Given the description of an element on the screen output the (x, y) to click on. 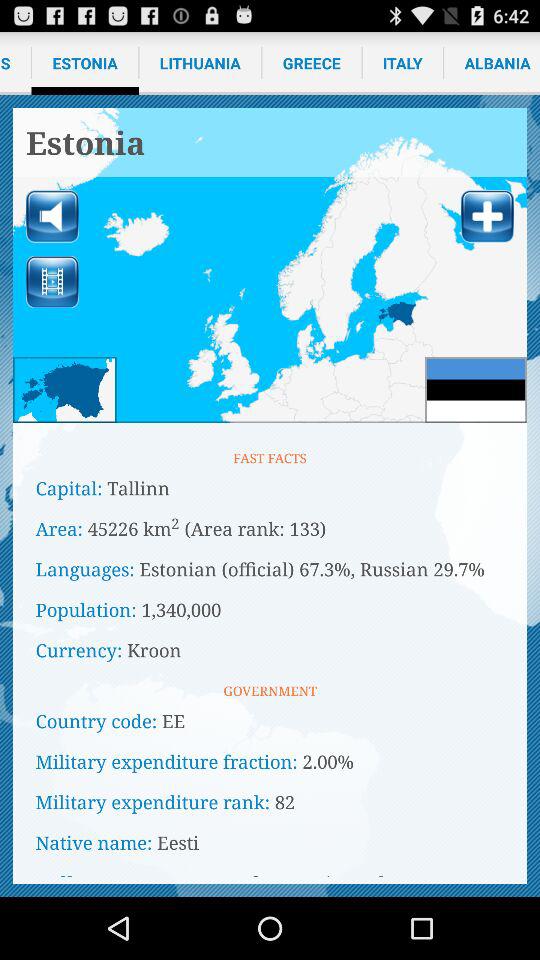
estonia map picture (269, 265)
